Given the description of an element on the screen output the (x, y) to click on. 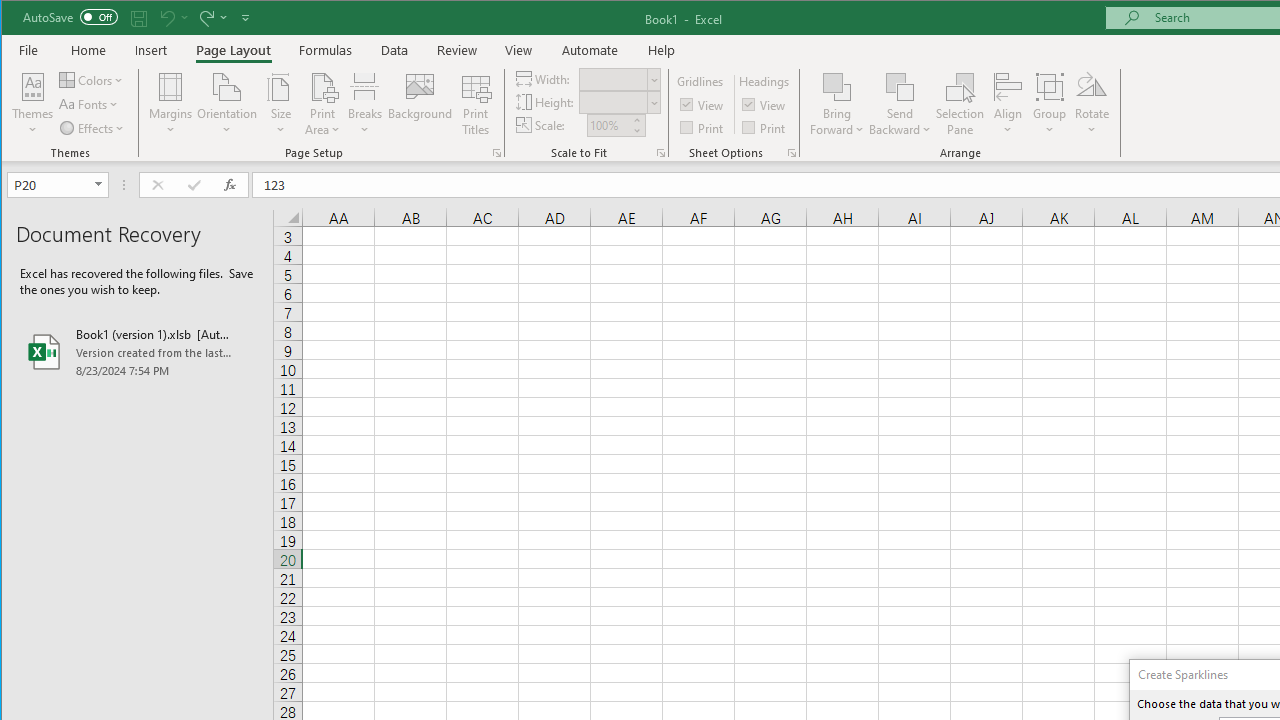
Height (612, 102)
Book1 (version 1).xlsb  [AutoRecovered] (137, 352)
Sheet Options (791, 152)
Bring Forward (836, 86)
Bring Forward (836, 104)
Breaks (365, 104)
Less (636, 130)
Width (619, 78)
